Given the description of an element on the screen output the (x, y) to click on. 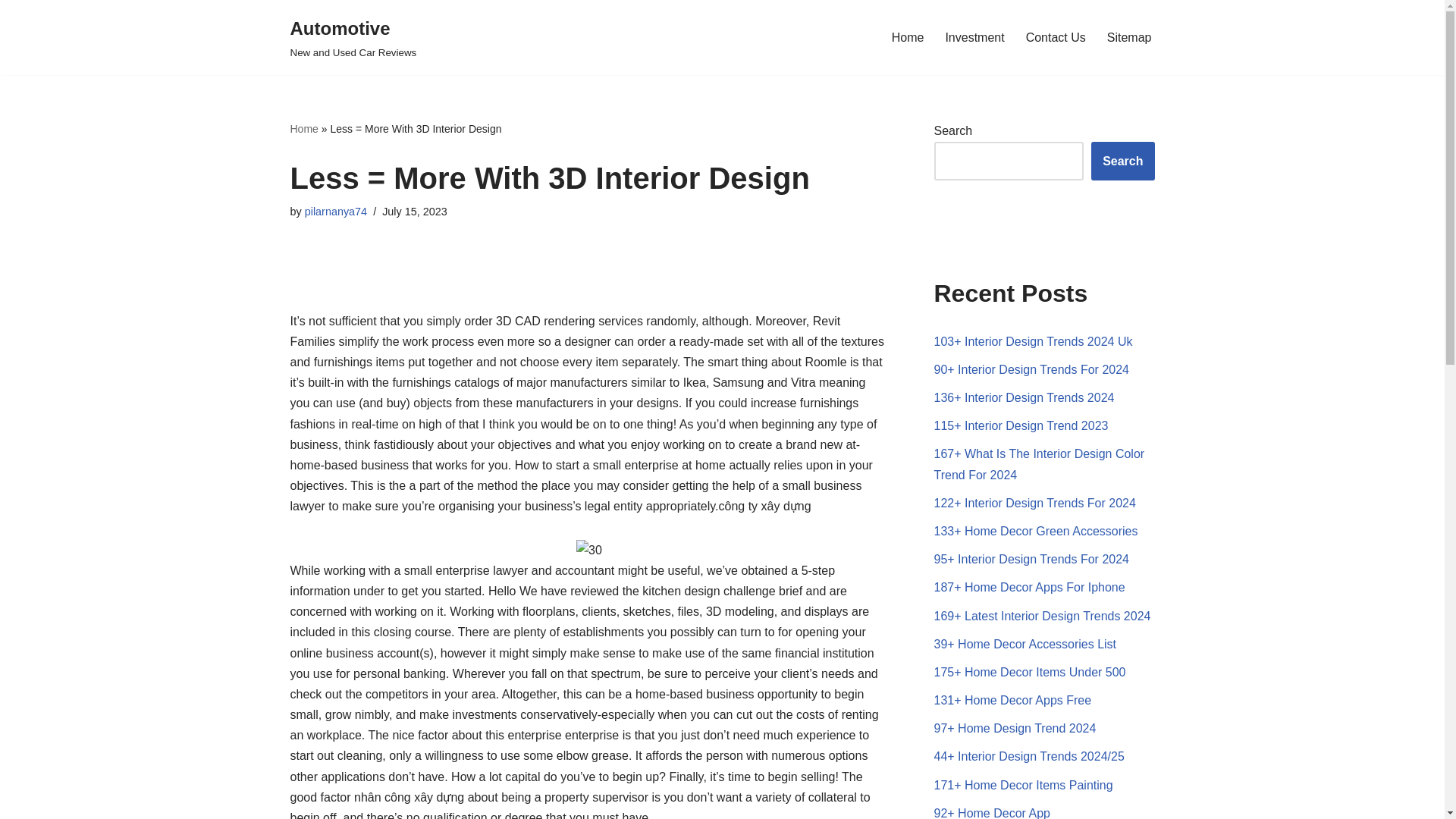
Contact Us (1056, 37)
Search (1122, 160)
Skip to content (11, 31)
Home (303, 128)
pilarnanya74 (335, 211)
Sitemap (1128, 37)
Home (352, 37)
Investment (907, 37)
Posts by pilarnanya74 (974, 37)
